Given the description of an element on the screen output the (x, y) to click on. 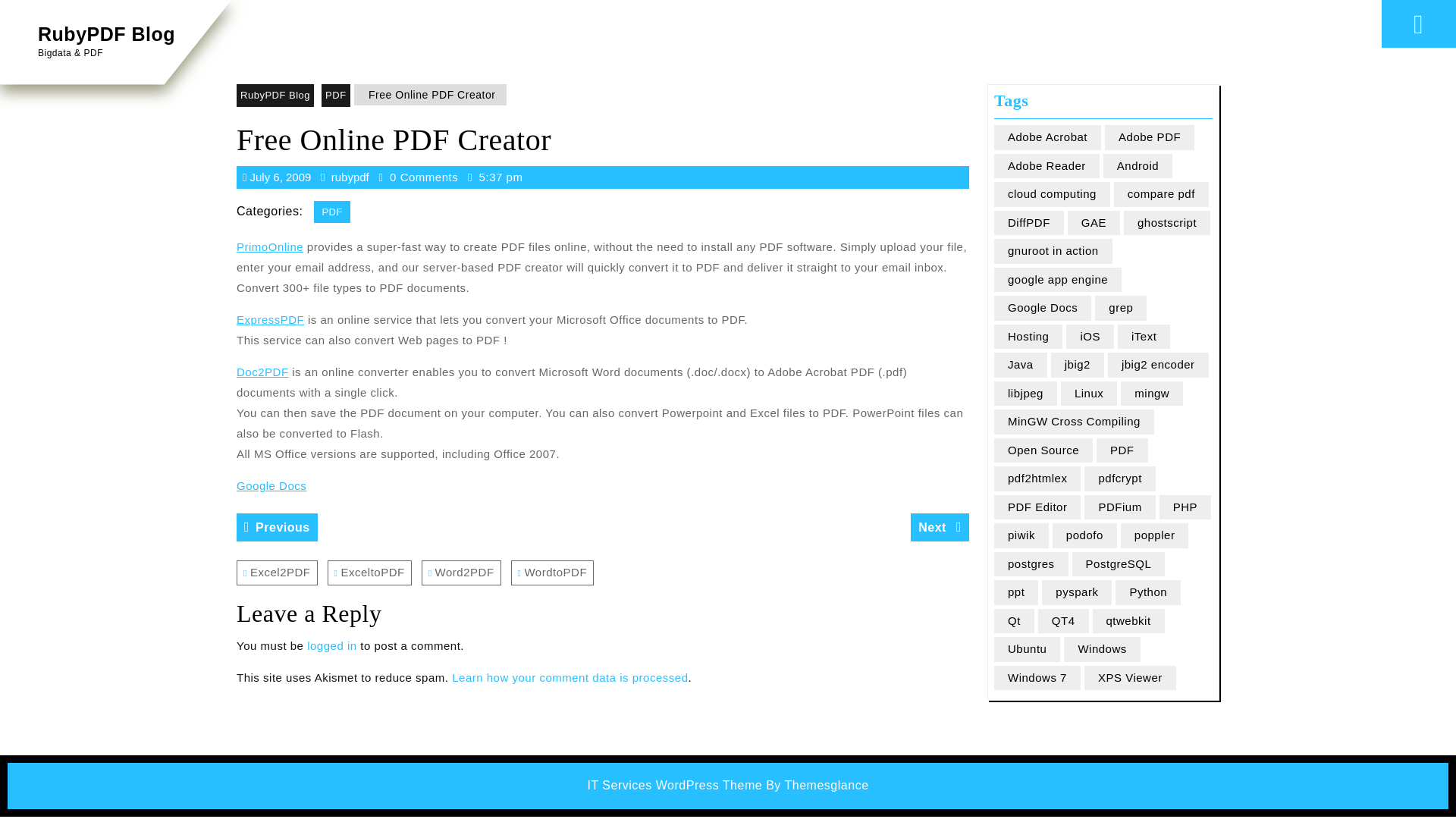
Java (1020, 364)
Android (347, 175)
libjpeg (1137, 166)
Excel2PDF (1025, 393)
PrimoOnline (276, 572)
gnuroot in action (268, 246)
google app engine (1053, 251)
RubyPDF Blog (940, 527)
Doc2PDF (1057, 279)
DiffPDF (274, 95)
Hosting (261, 371)
iOS (1029, 222)
iText (1028, 336)
